Given the description of an element on the screen output the (x, y) to click on. 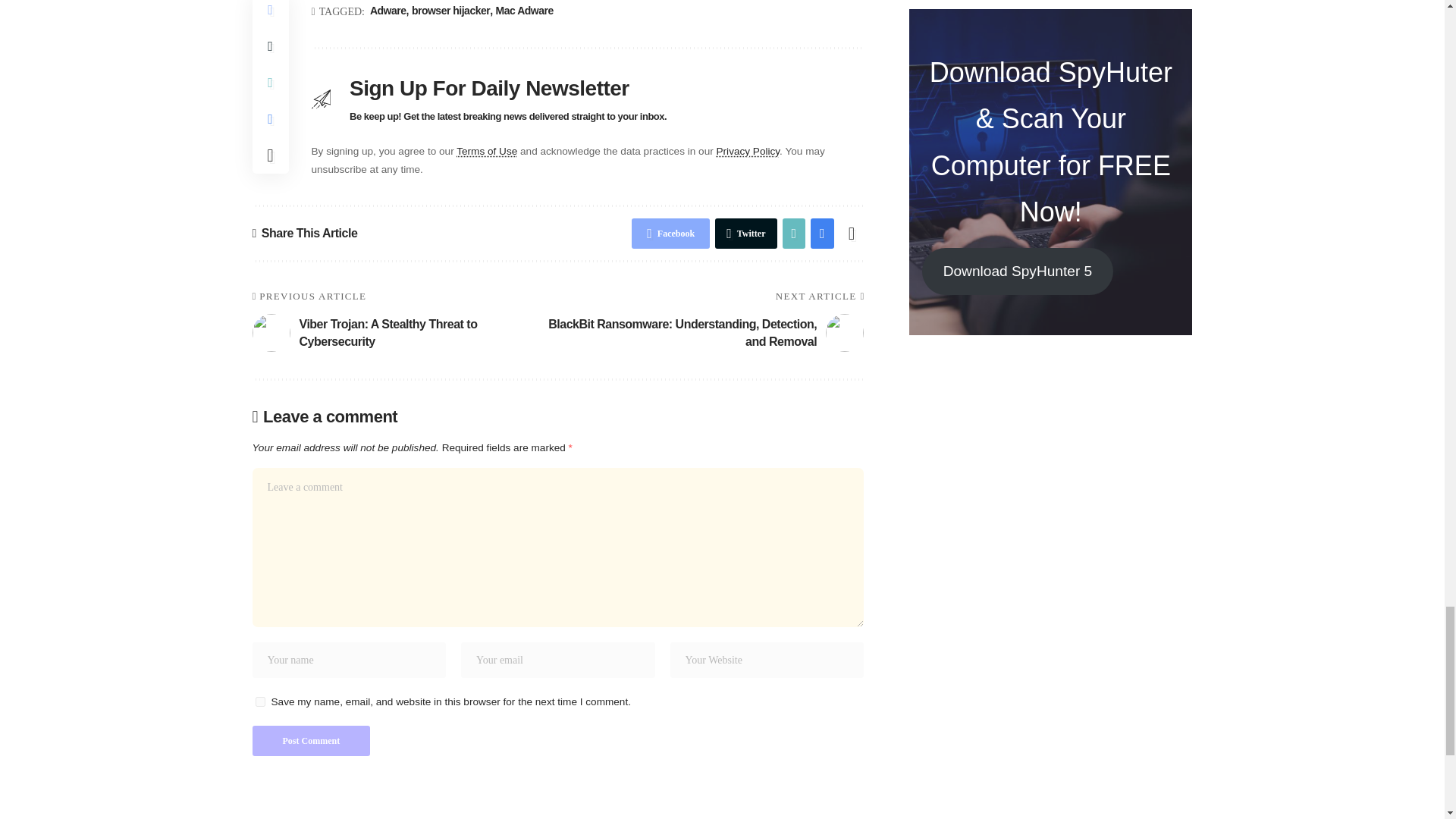
yes (259, 701)
Post Comment (310, 740)
